Given the description of an element on the screen output the (x, y) to click on. 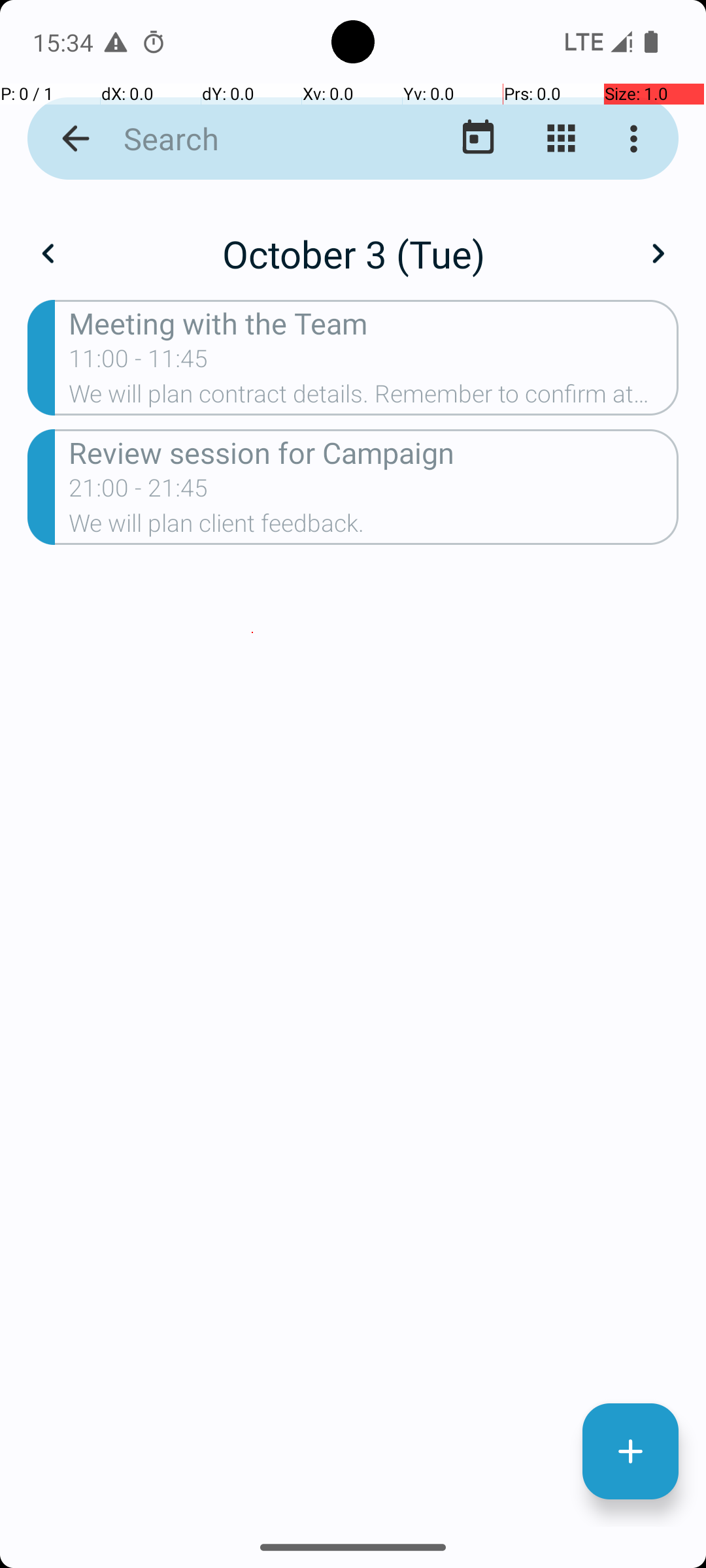
Go to today Element type: android.widget.Button (477, 138)
October 3 (Tue) Element type: android.widget.TextView (352, 253)
Meeting with the Team Element type: android.widget.TextView (373, 321)
11:00 - 11:45 Element type: android.widget.TextView (137, 362)
We will plan contract details. Remember to confirm attendance. Element type: android.widget.TextView (373, 397)
Review session for Campaign Element type: android.widget.TextView (373, 451)
21:00 - 21:45 Element type: android.widget.TextView (137, 491)
We will plan client feedback. Element type: android.widget.TextView (373, 526)
